Given the description of an element on the screen output the (x, y) to click on. 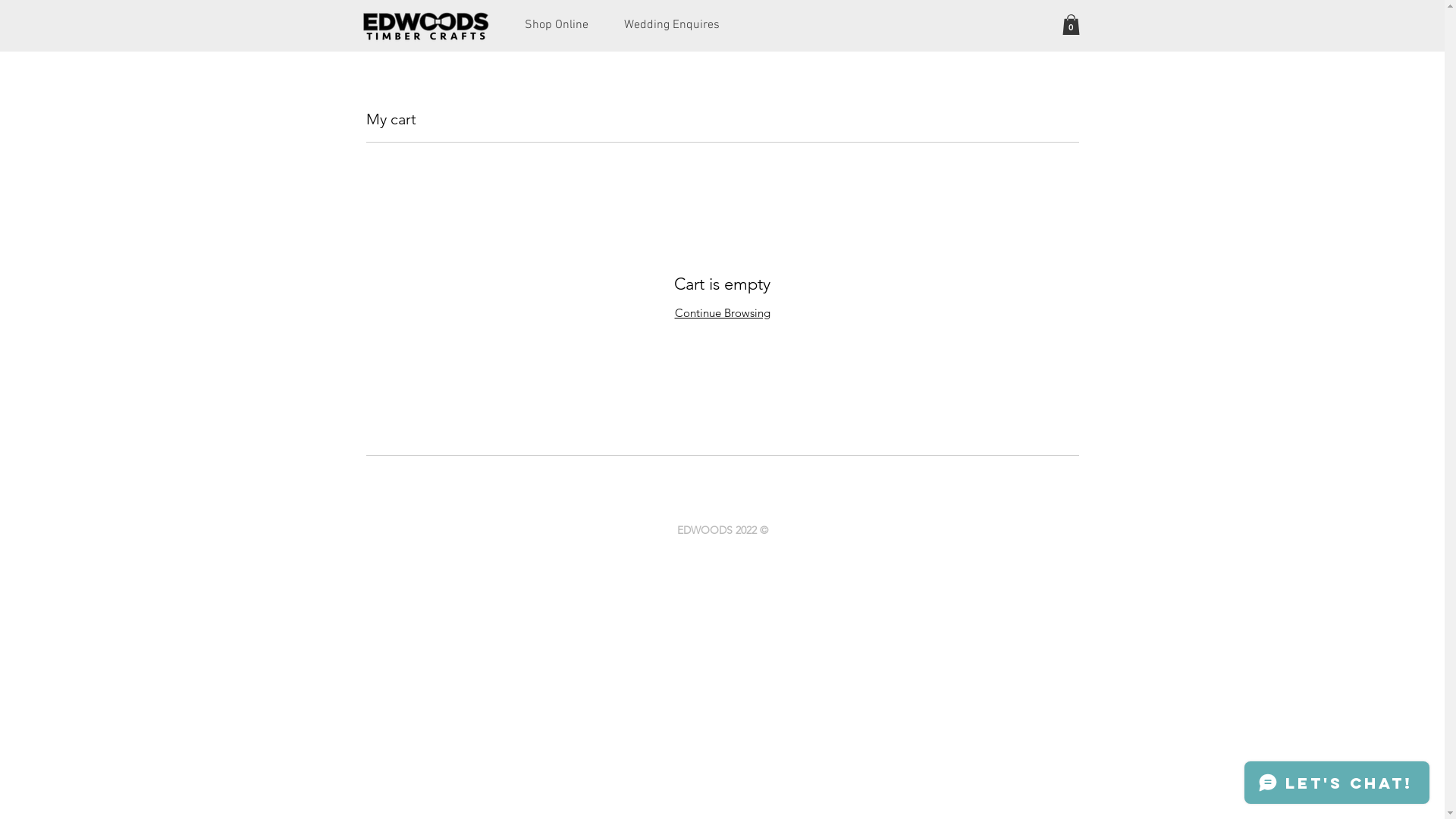
0 Element type: text (1070, 24)
EDWOODS-black2.png Element type: hover (424, 26)
Shop Online Element type: text (555, 25)
Continue Browsing Element type: text (722, 312)
Wedding Enquires Element type: text (671, 25)
